Given the description of an element on the screen output the (x, y) to click on. 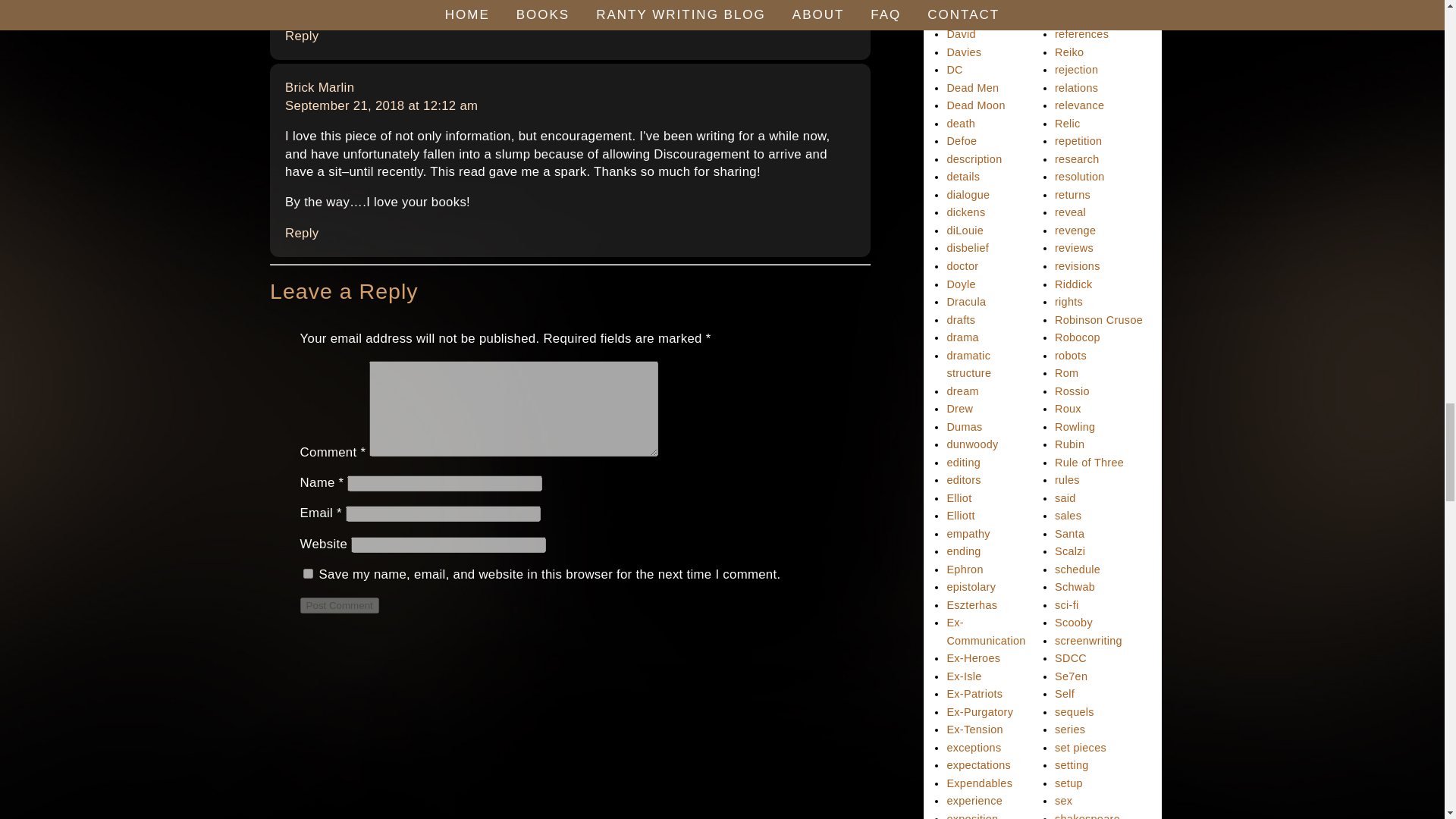
Post Comment (338, 605)
Reply (301, 233)
September 21, 2018 at 12:12 am (381, 105)
Reply (301, 35)
yes (307, 573)
